Given the description of an element on the screen output the (x, y) to click on. 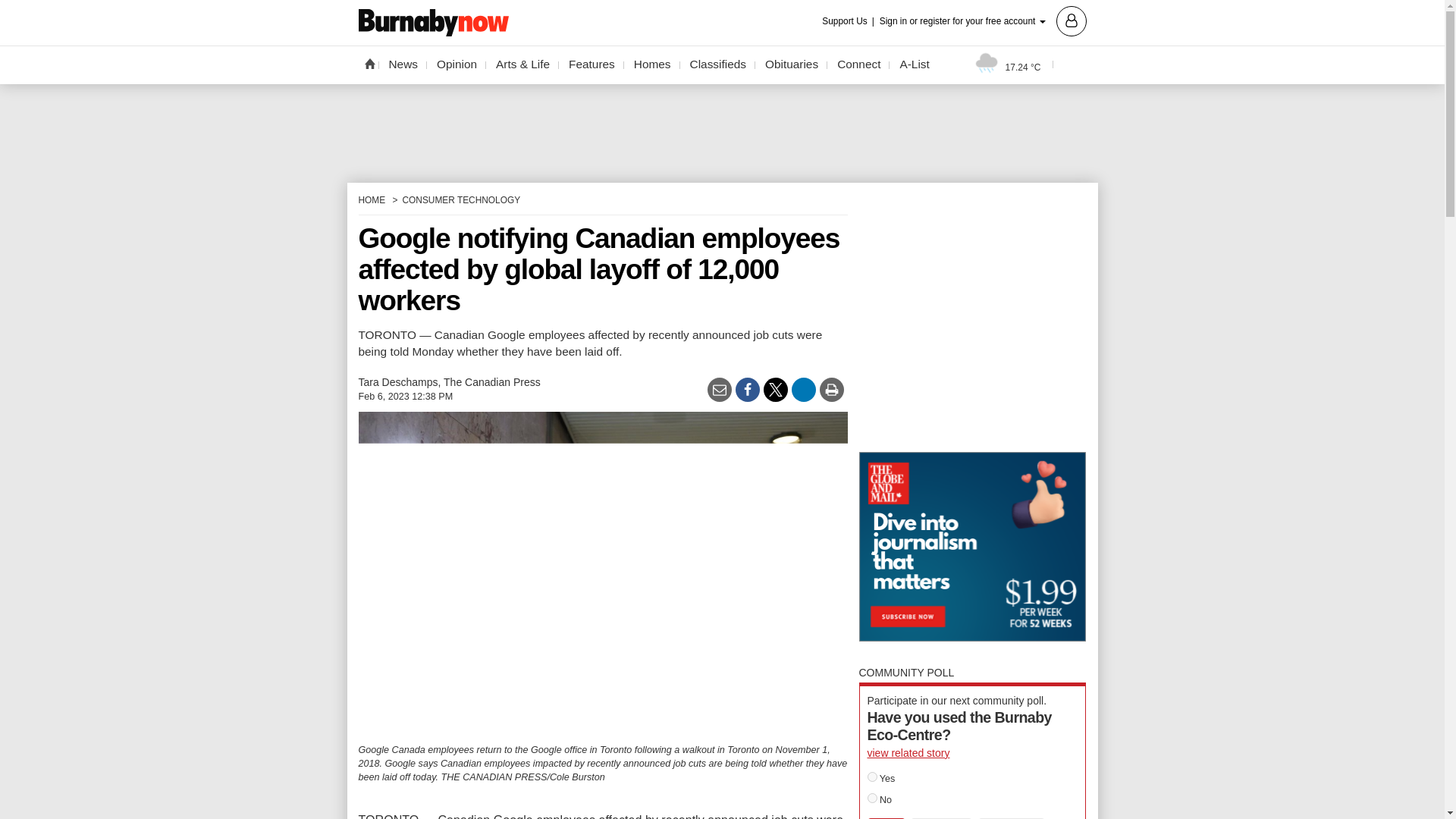
121285 (872, 777)
Sign in or register for your free account (982, 20)
Home (368, 63)
Opinion (456, 64)
Support Us (849, 21)
121286 (872, 798)
News (403, 64)
